Given the description of an element on the screen output the (x, y) to click on. 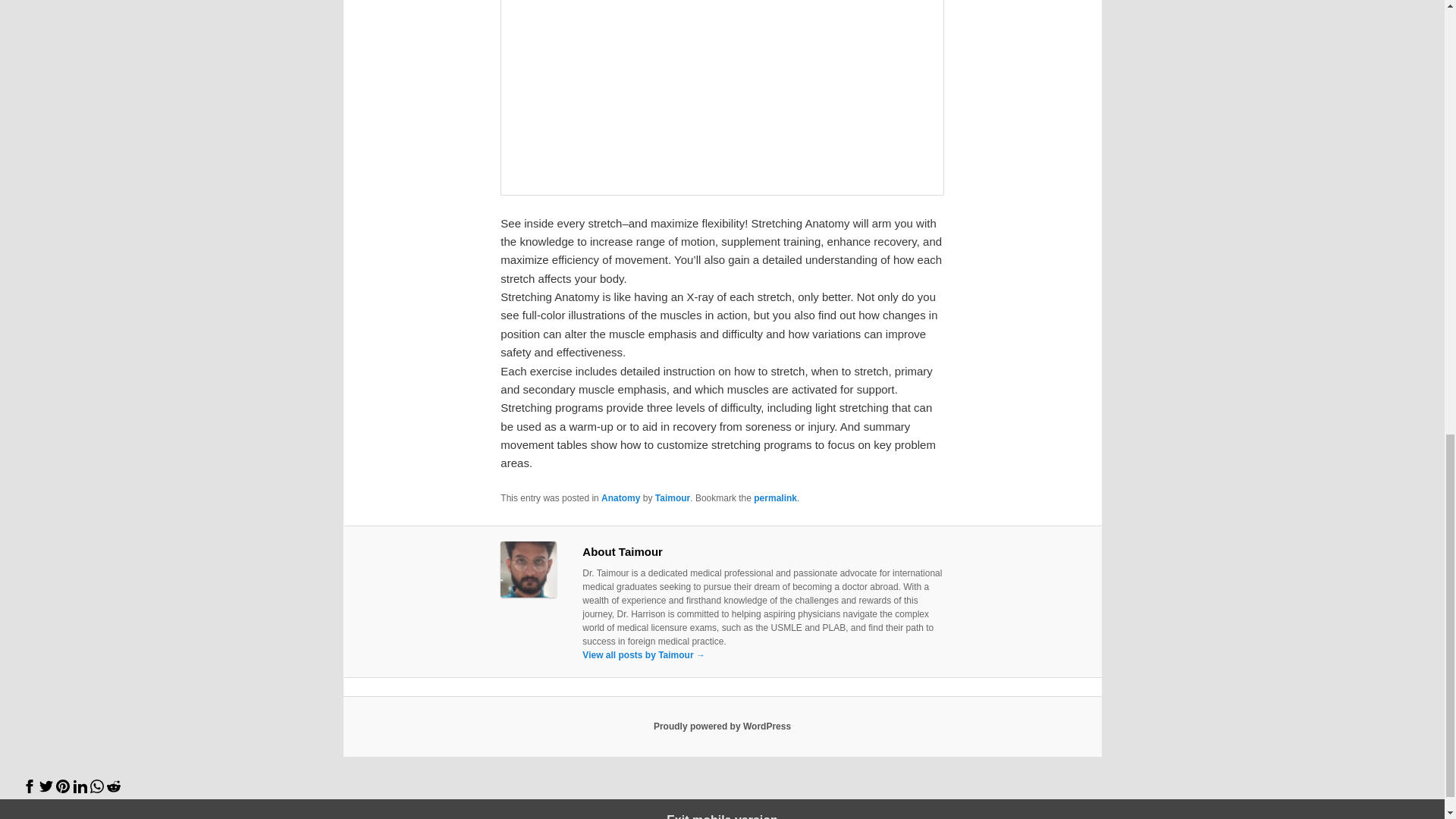
Permalink to BarCharts QuickStudy Surface Anatomy PDF (775, 498)
Taimour (672, 498)
permalink (775, 498)
Proudly powered by WordPress (721, 726)
Semantic Personal Publishing Platform (721, 726)
Anatomy (620, 498)
